Given the description of an element on the screen output the (x, y) to click on. 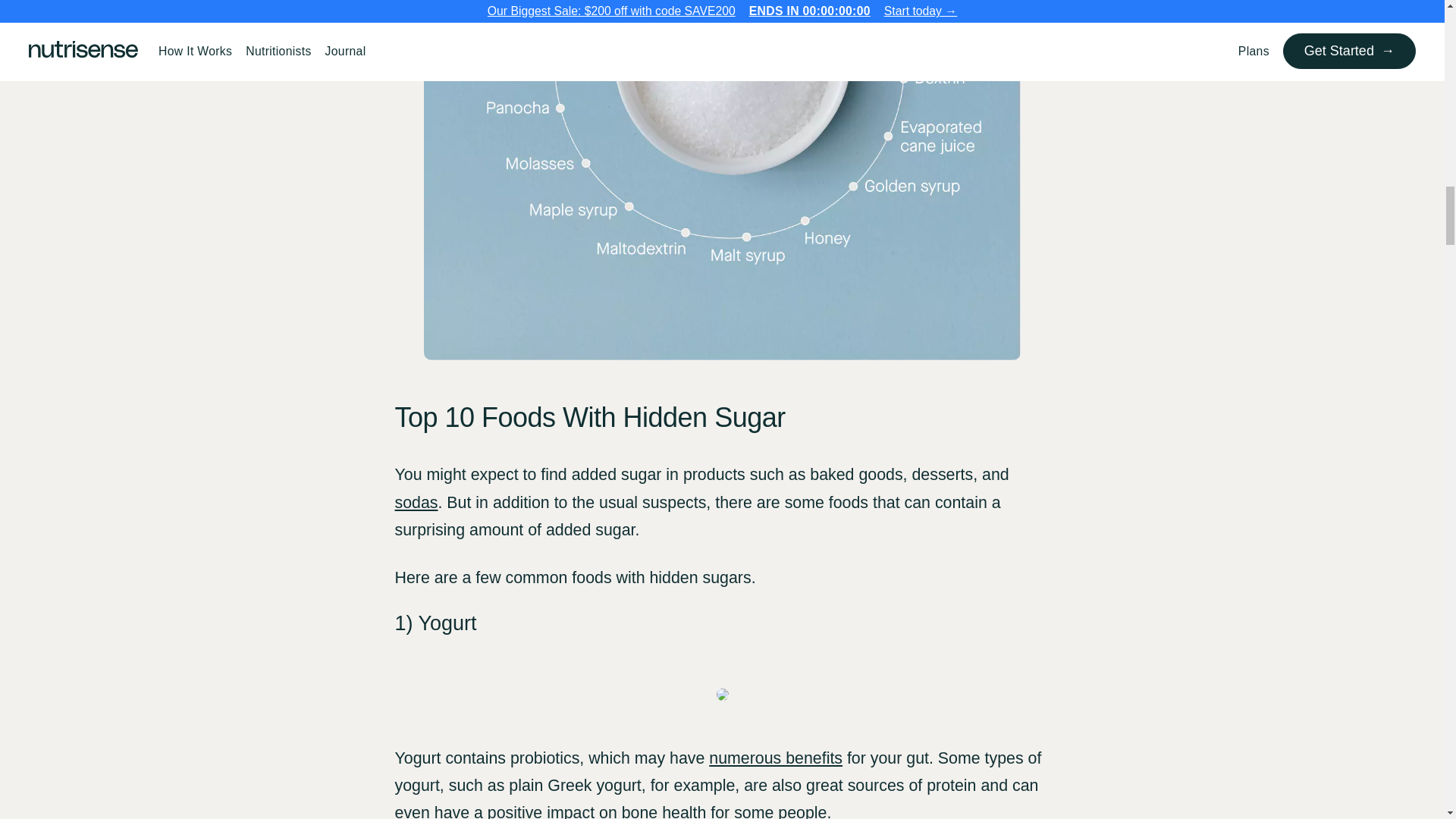
sodas (416, 502)
positive impact on bone health (596, 811)
numerous benefits (776, 758)
